Given the description of an element on the screen output the (x, y) to click on. 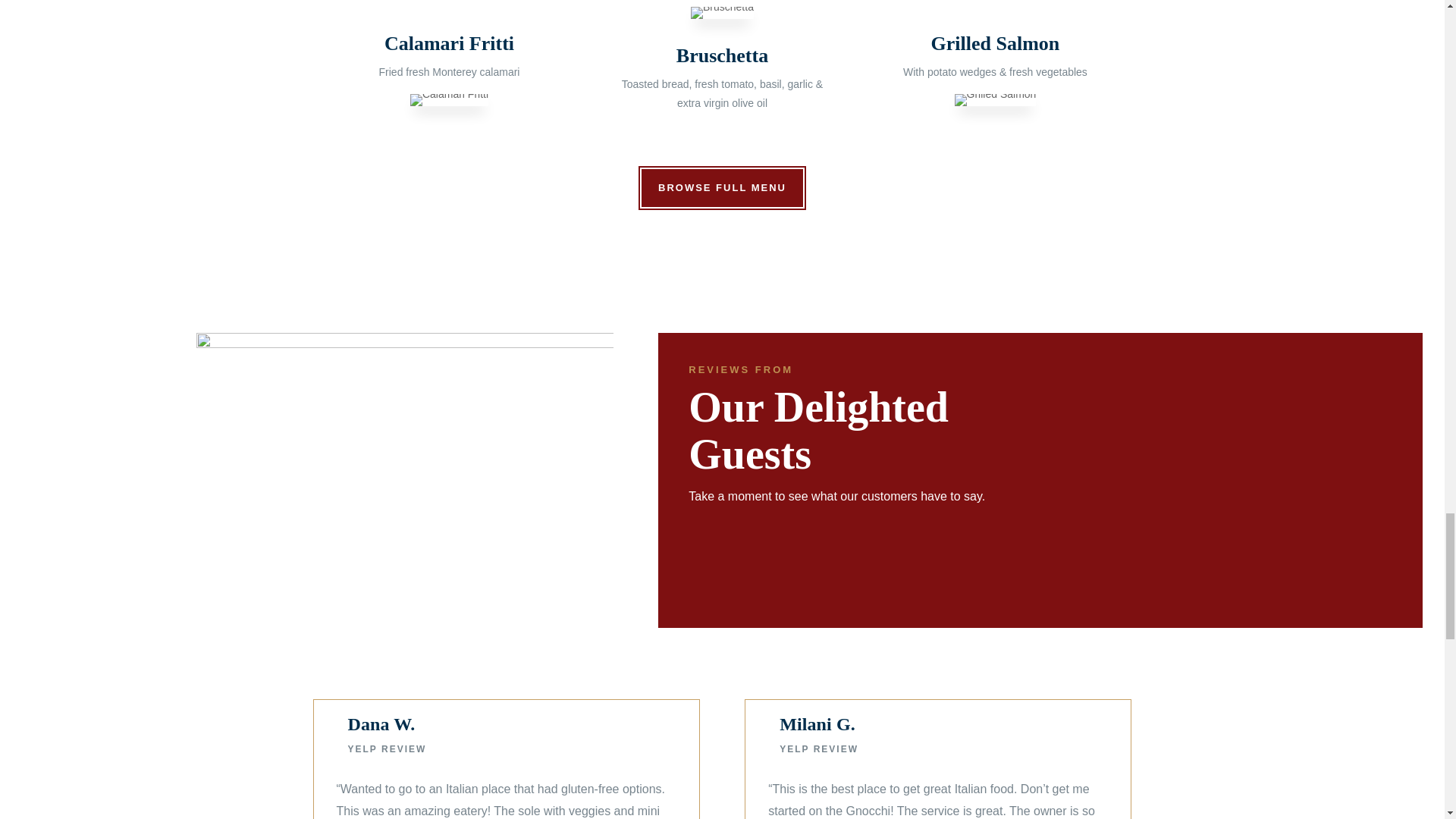
Grilled Salmon (995, 100)
Bruschetta (722, 12)
Calamari Fritti (448, 100)
BROWSE FULL MENU (722, 187)
